Given the description of an element on the screen output the (x, y) to click on. 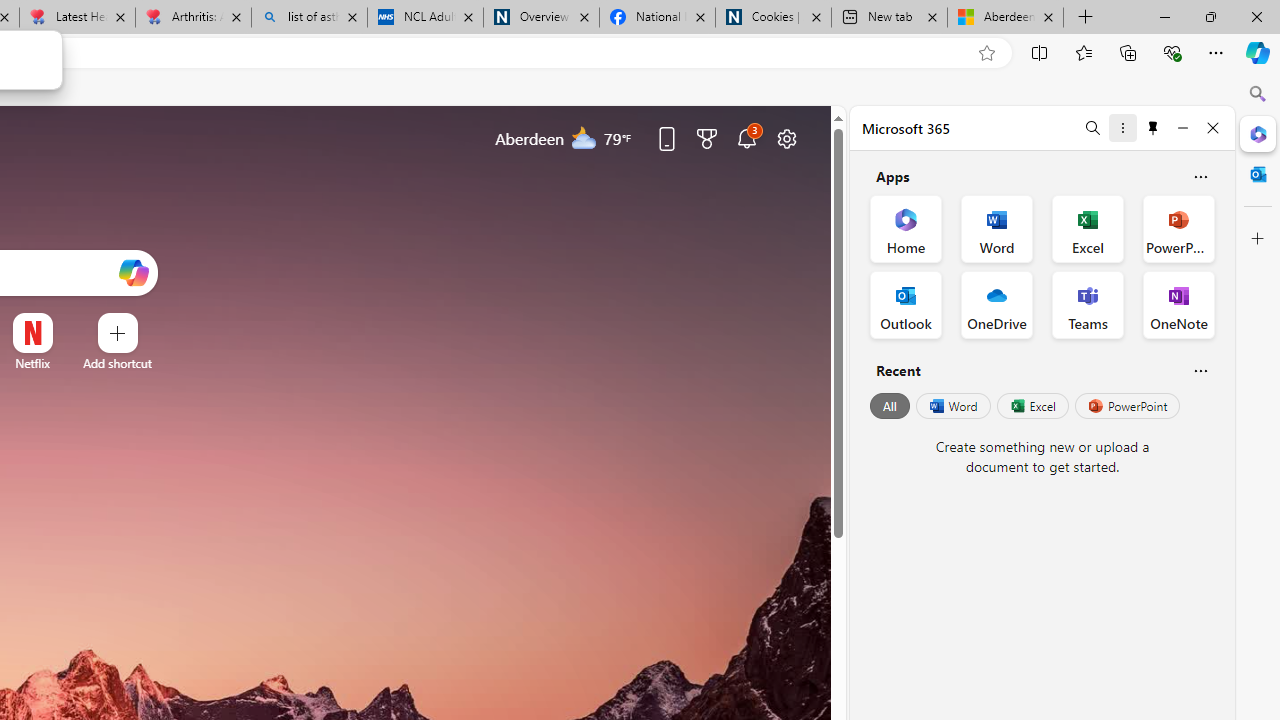
OneDrive Office App (996, 304)
Page settings (786, 138)
Microsoft rewards (707, 138)
Teams Office App (1087, 304)
All (890, 406)
Is this helpful? (1200, 370)
NCL Adult Asthma Inhaler Choice Guideline (424, 17)
Home Office App (906, 228)
Excel (1031, 406)
